Given the description of an element on the screen output the (x, y) to click on. 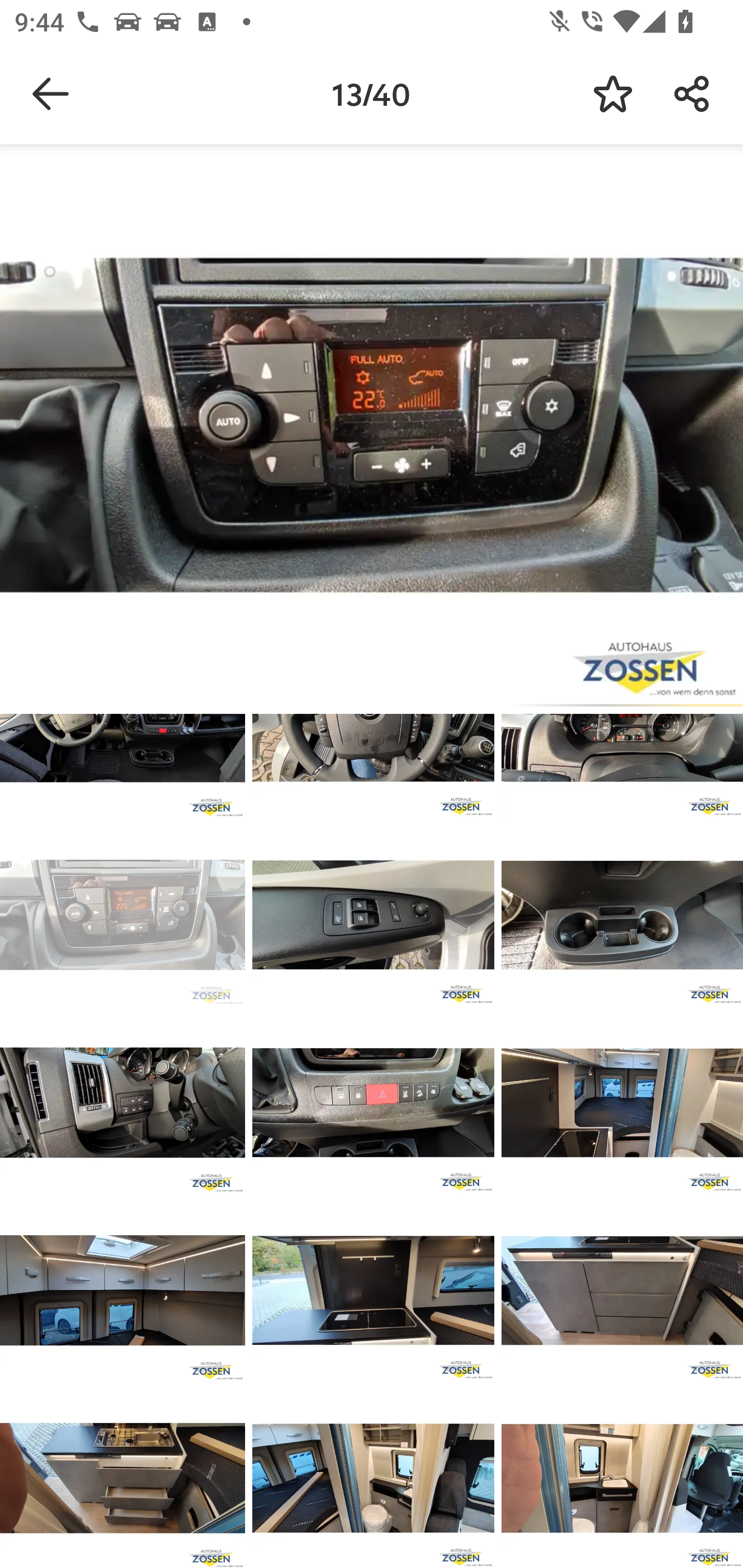
back button (50, 93)
share button (692, 93)
main image view (371, 428)
image (122, 914)
image (373, 914)
image (622, 914)
image (122, 1102)
image (373, 1102)
image (622, 1102)
image (122, 1290)
image (373, 1290)
image (622, 1290)
image (122, 1477)
image (373, 1477)
image (622, 1477)
